Given the description of an element on the screen output the (x, y) to click on. 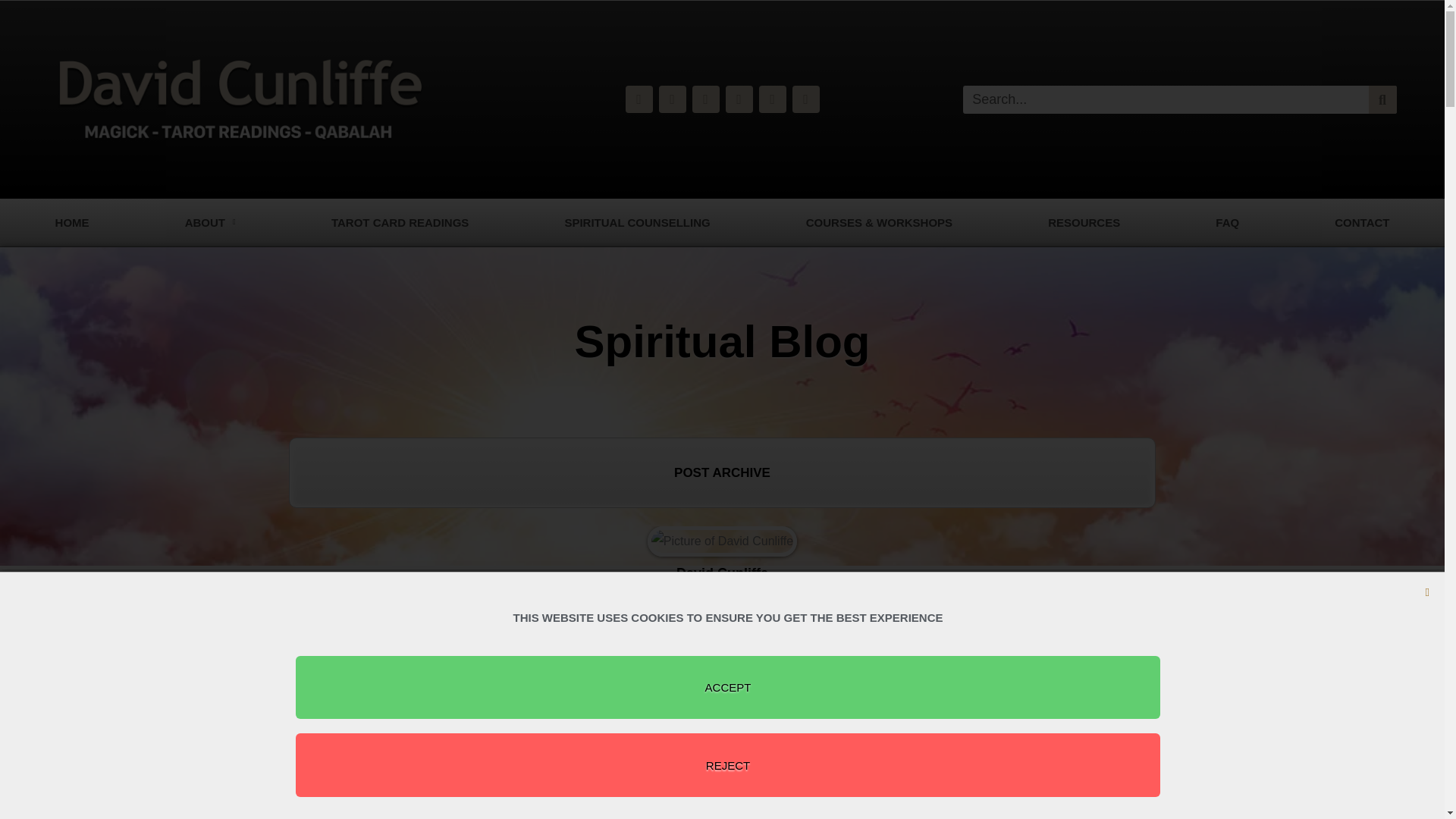
Tiktok (671, 99)
Youtube (772, 99)
TAROT CARD READINGS (399, 222)
Search (1382, 99)
HOME (71, 222)
FAQ (1227, 222)
Times (738, 99)
Facebook-f (705, 99)
RESOURCES (1083, 222)
Instagram (638, 99)
Pinterest (805, 99)
ABOUT (209, 222)
POST ARCHIVE (722, 472)
CONTACT (1362, 222)
SPIRITUAL COUNSELLING (636, 222)
